Given the description of an element on the screen output the (x, y) to click on. 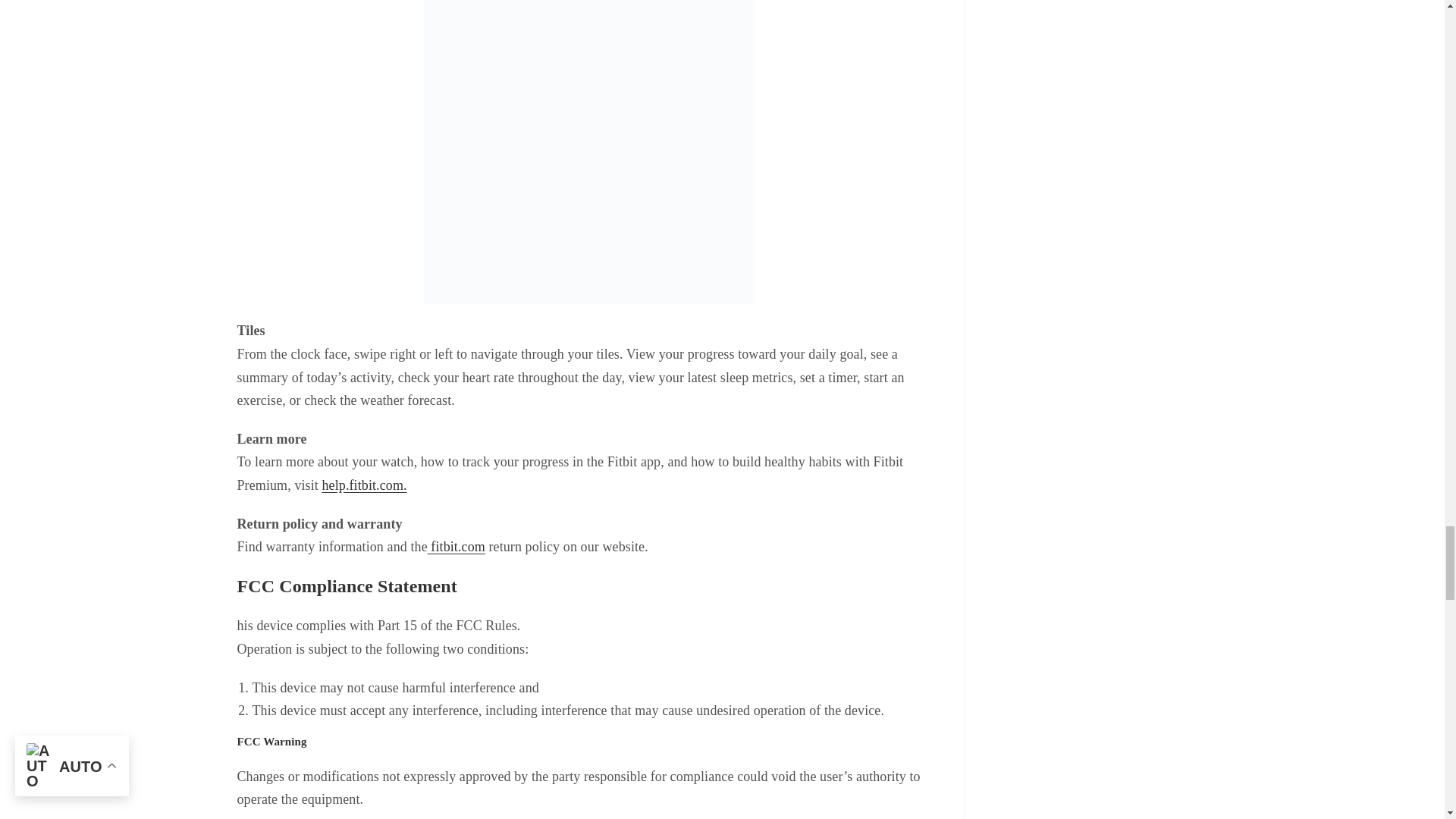
help.fitbit.com. (364, 485)
fitbit.com (456, 546)
